Given the description of an element on the screen output the (x, y) to click on. 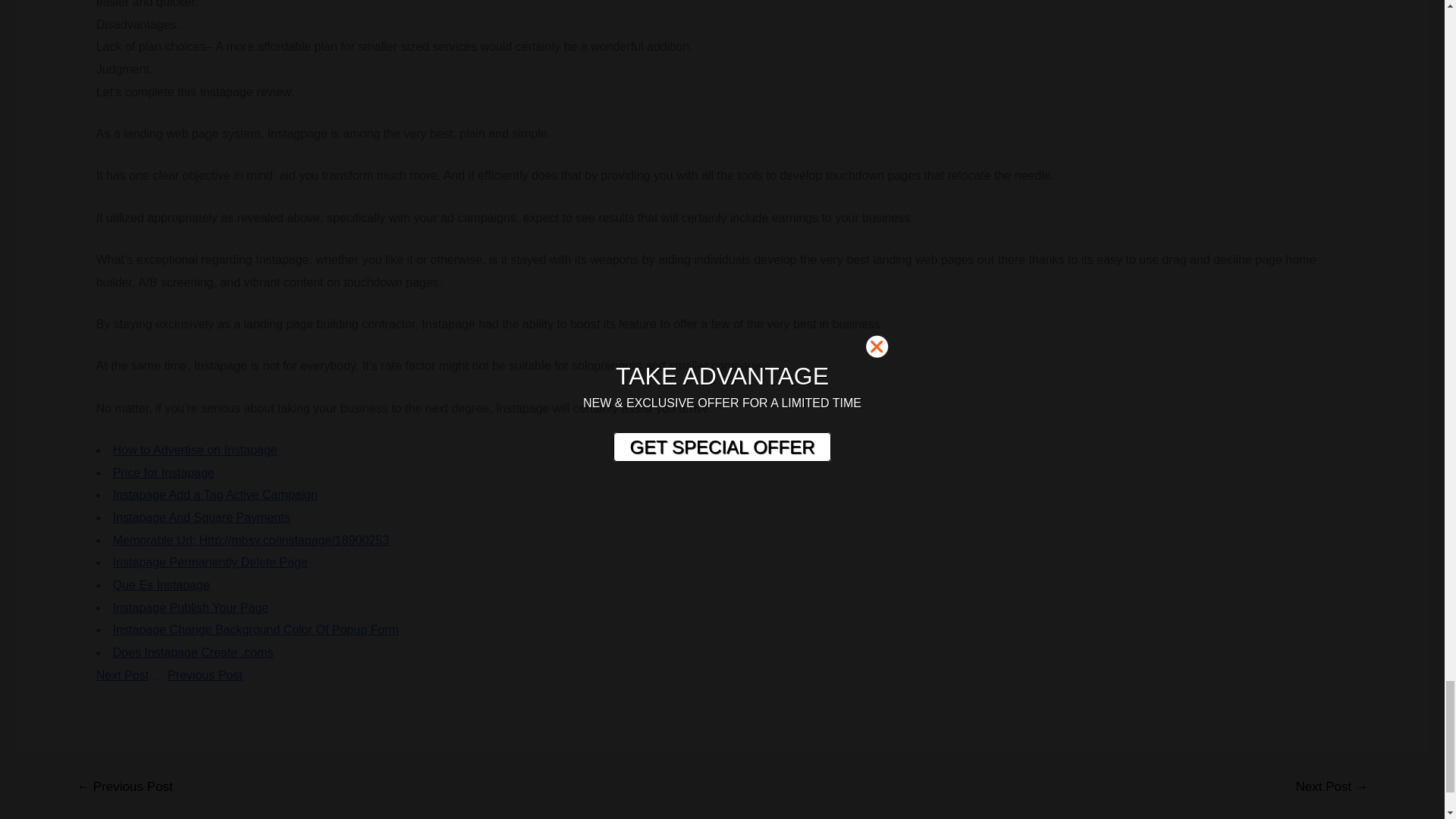
Que Es Instapage (161, 584)
Instapage Publish Your Page (191, 607)
How to Advertise on Instapage (195, 449)
Instapage Add a Tag Active Campaign (215, 494)
Price for Instapage (163, 472)
Instapage Add a Tag Active Campaign (215, 494)
Price for Instapage (163, 472)
Next Post (122, 675)
Instapage Change Background Color Of Popup Form (255, 629)
Does Instapage Create .coms (193, 652)
Instapage Change Background Color Of Popup Form (255, 629)
Instapage And Square Payments (201, 517)
Does Instapage Create .coms (193, 652)
Instapage Publish Your Page (191, 607)
Instapage Permanently Delete Page (210, 562)
